Given the description of an element on the screen output the (x, y) to click on. 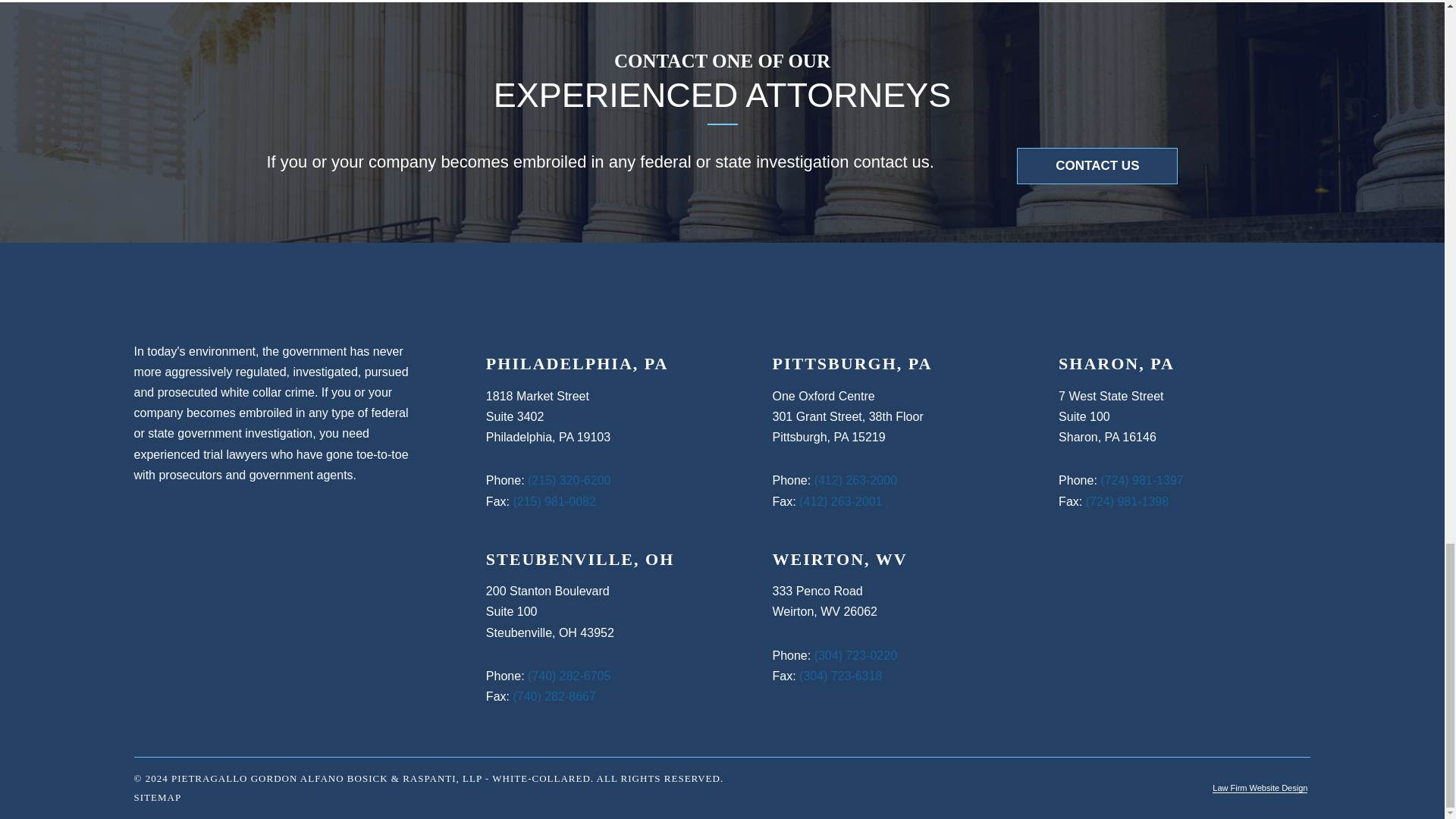
SITEMAP (157, 797)
Law Firm Website Design (1259, 787)
CONTACT US (1096, 166)
